Given the description of an element on the screen output the (x, y) to click on. 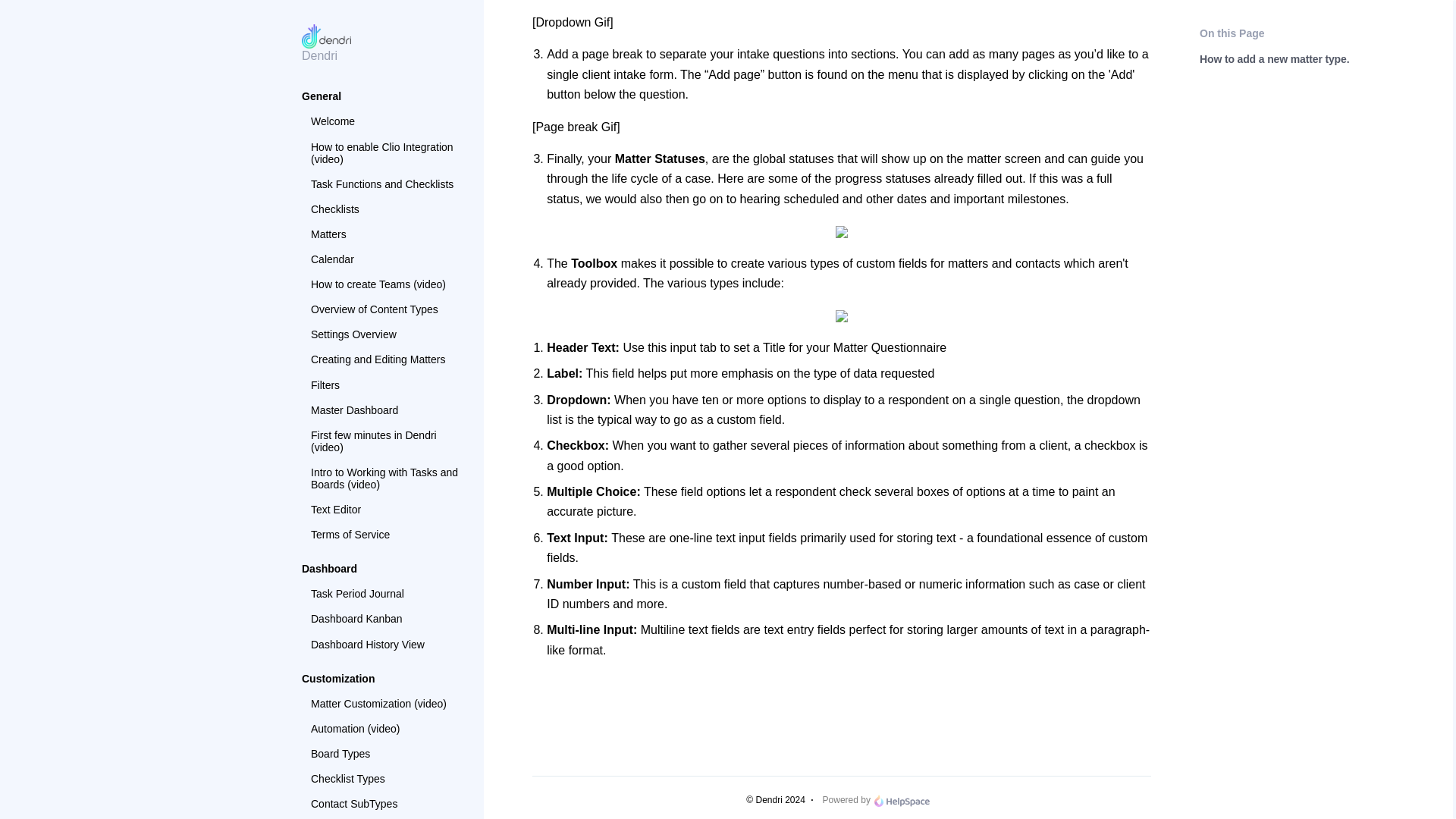
How to add a new matter. (384, 157)
Powered By HelpSpace (900, 800)
Registration and Login (384, 35)
Profile Settings (384, 11)
Powered By HelpSpace (900, 800)
Billing FAQ (384, 60)
How to filter matters. (384, 207)
How to add a new matter type. (384, 126)
How to delete a matter. (384, 182)
